Given the description of an element on the screen output the (x, y) to click on. 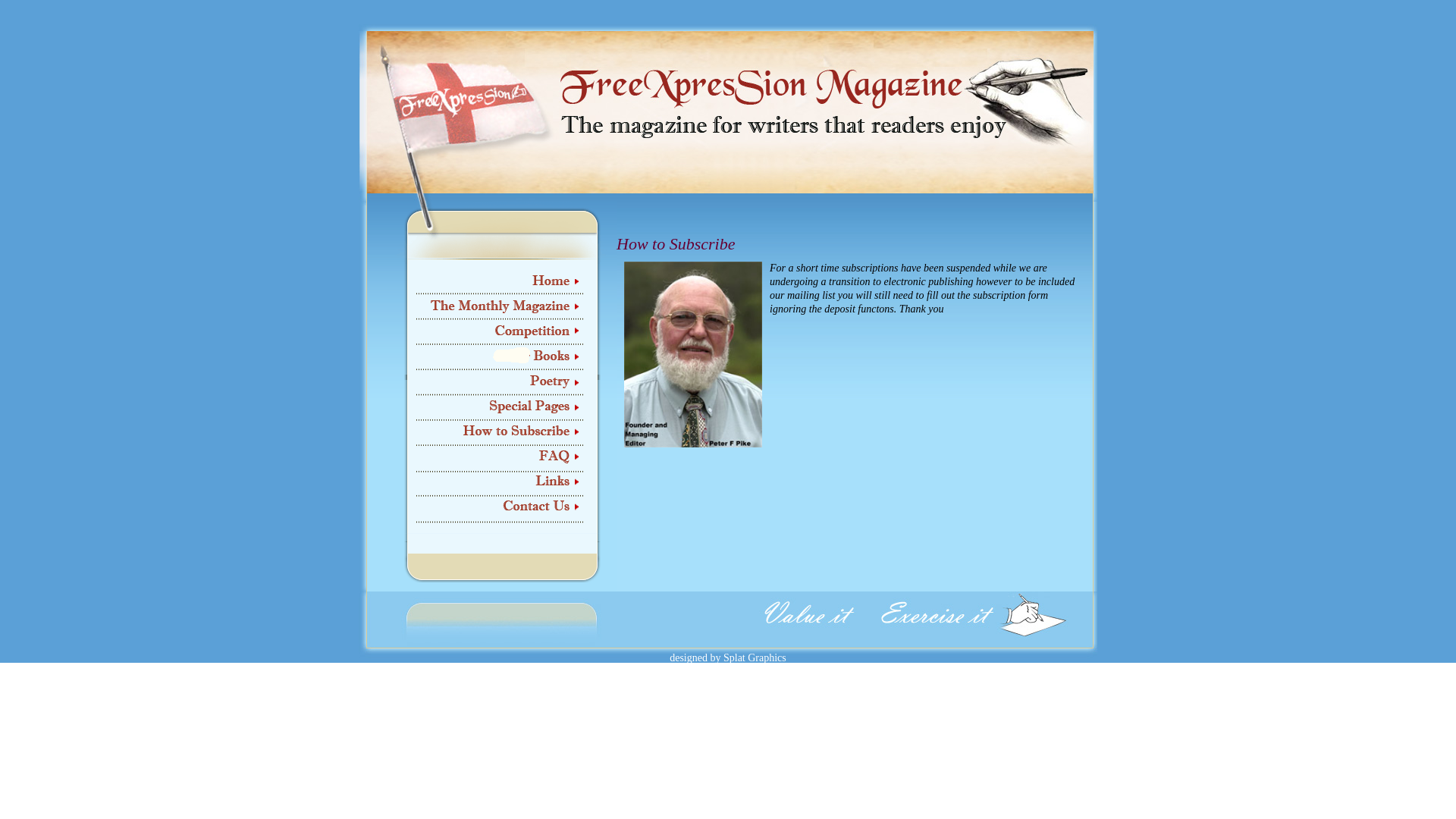
designed by Splat Graphics Element type: text (727, 657)
